Given the description of an element on the screen output the (x, y) to click on. 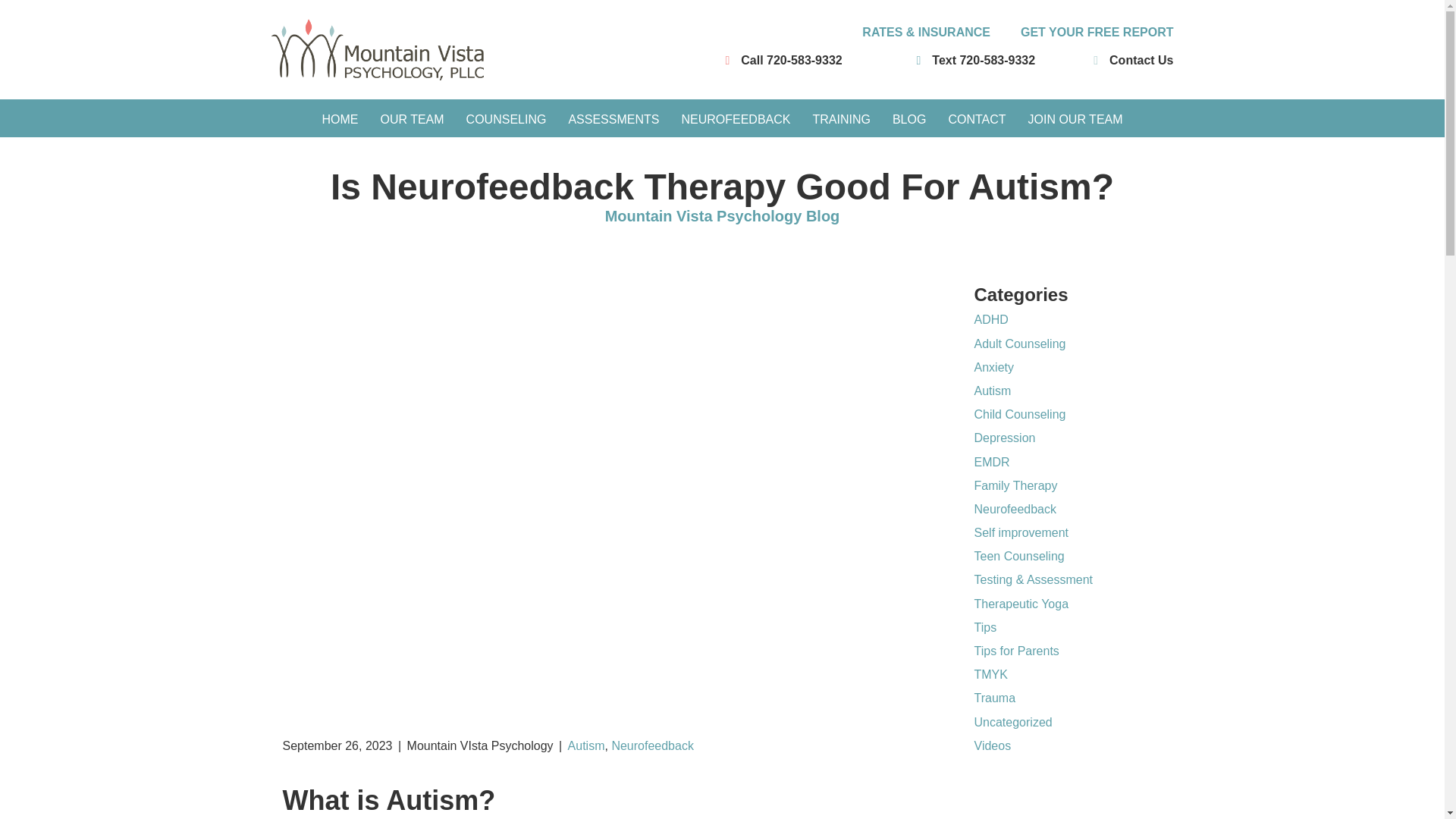
OUR TEAM (411, 119)
COUNSELING (506, 119)
Call 720-583-9332 (791, 59)
Text 720-583-9332 (983, 59)
GET YOUR FREE REPORT (1096, 31)
logo (376, 49)
Contact Us (1141, 59)
HOME (339, 119)
Mountain Vista Psychology Blog (722, 216)
